Given the description of an element on the screen output the (x, y) to click on. 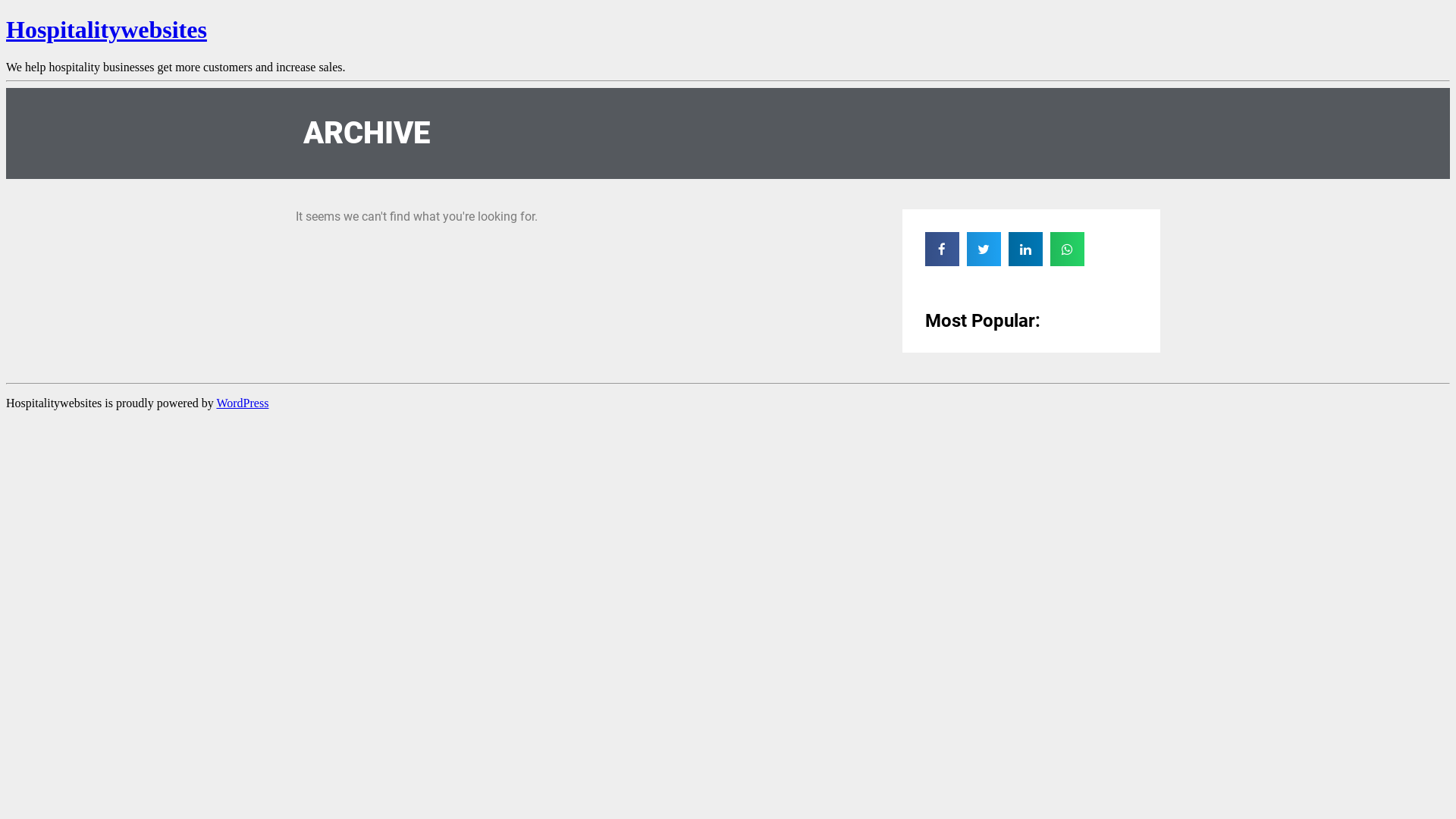
Hospitalitywebsites Element type: text (106, 29)
WordPress Element type: text (242, 402)
